Given the description of an element on the screen output the (x, y) to click on. 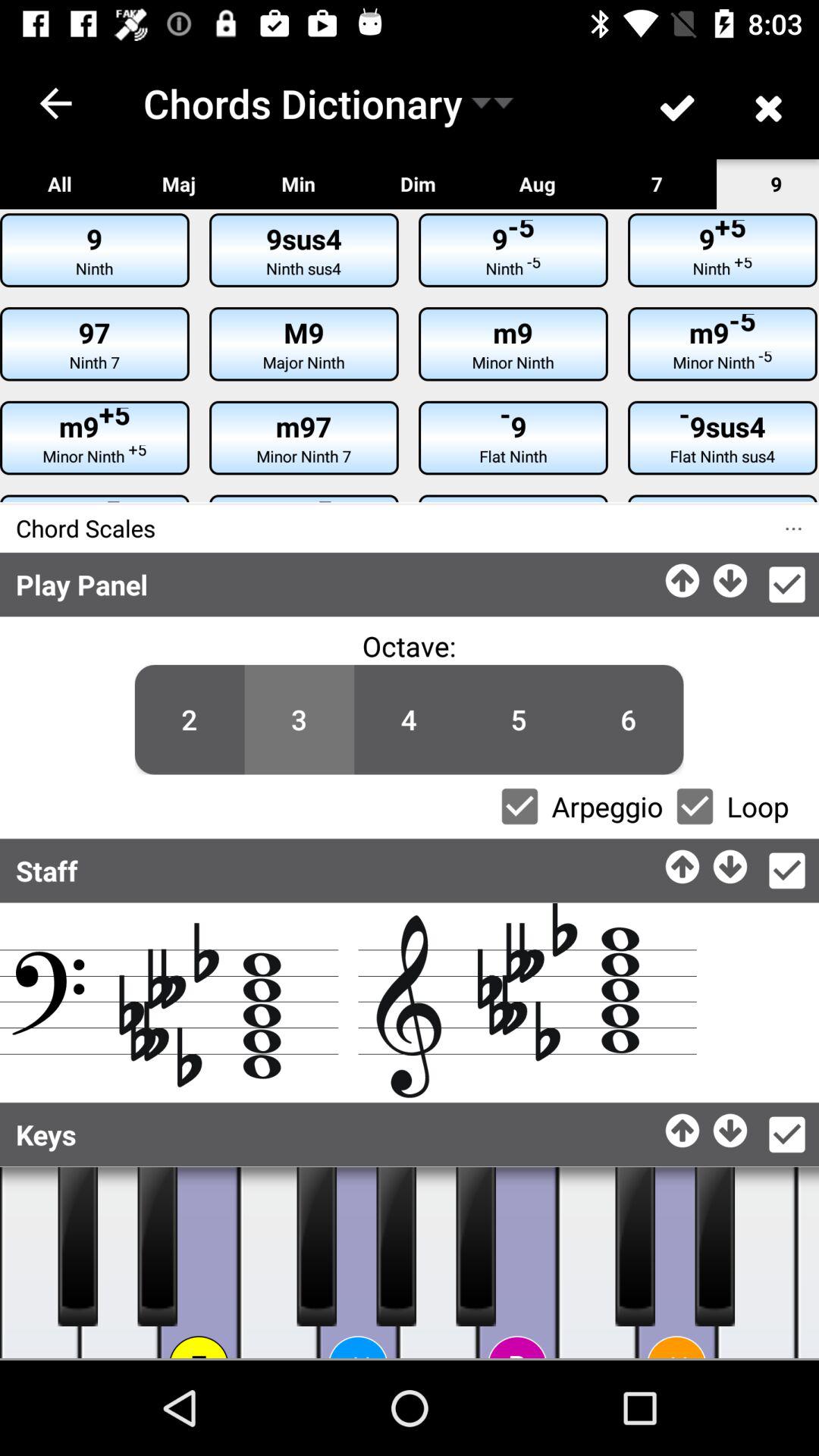
music playing key (157, 1246)
